Given the description of an element on the screen output the (x, y) to click on. 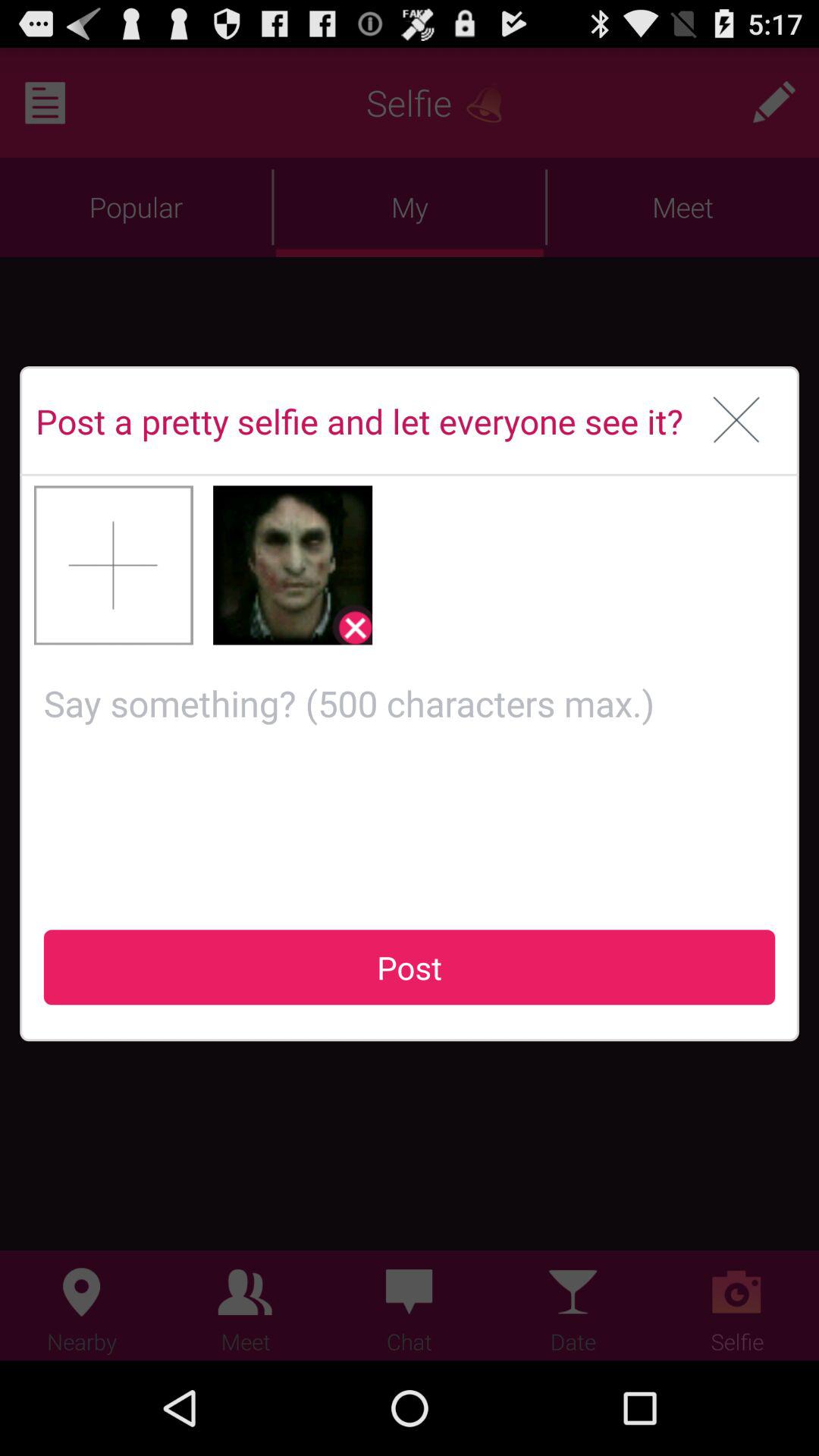
exit out (736, 421)
